Given the description of an element on the screen output the (x, y) to click on. 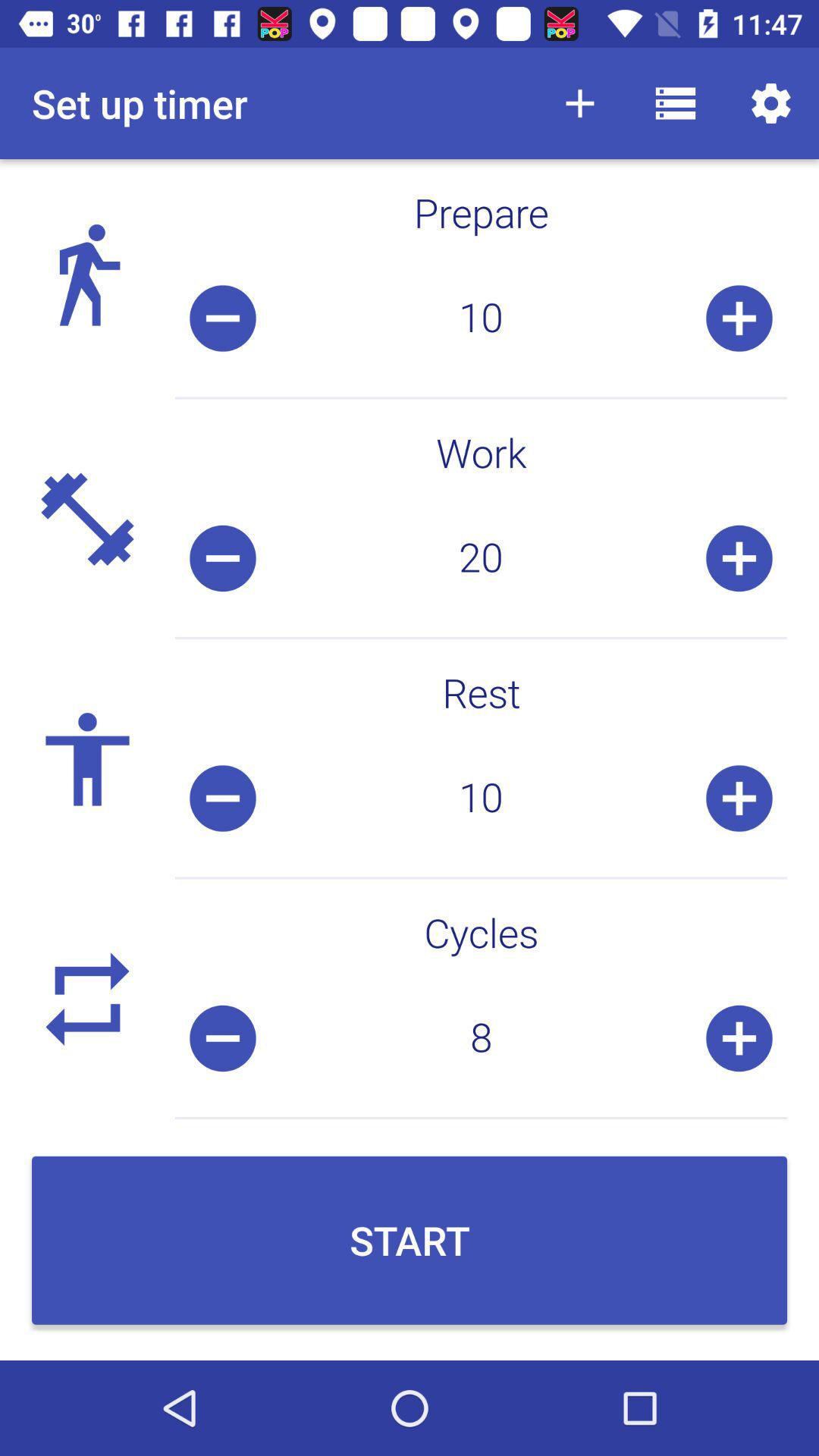
tap item above the prepare item (675, 103)
